Given the description of an element on the screen output the (x, y) to click on. 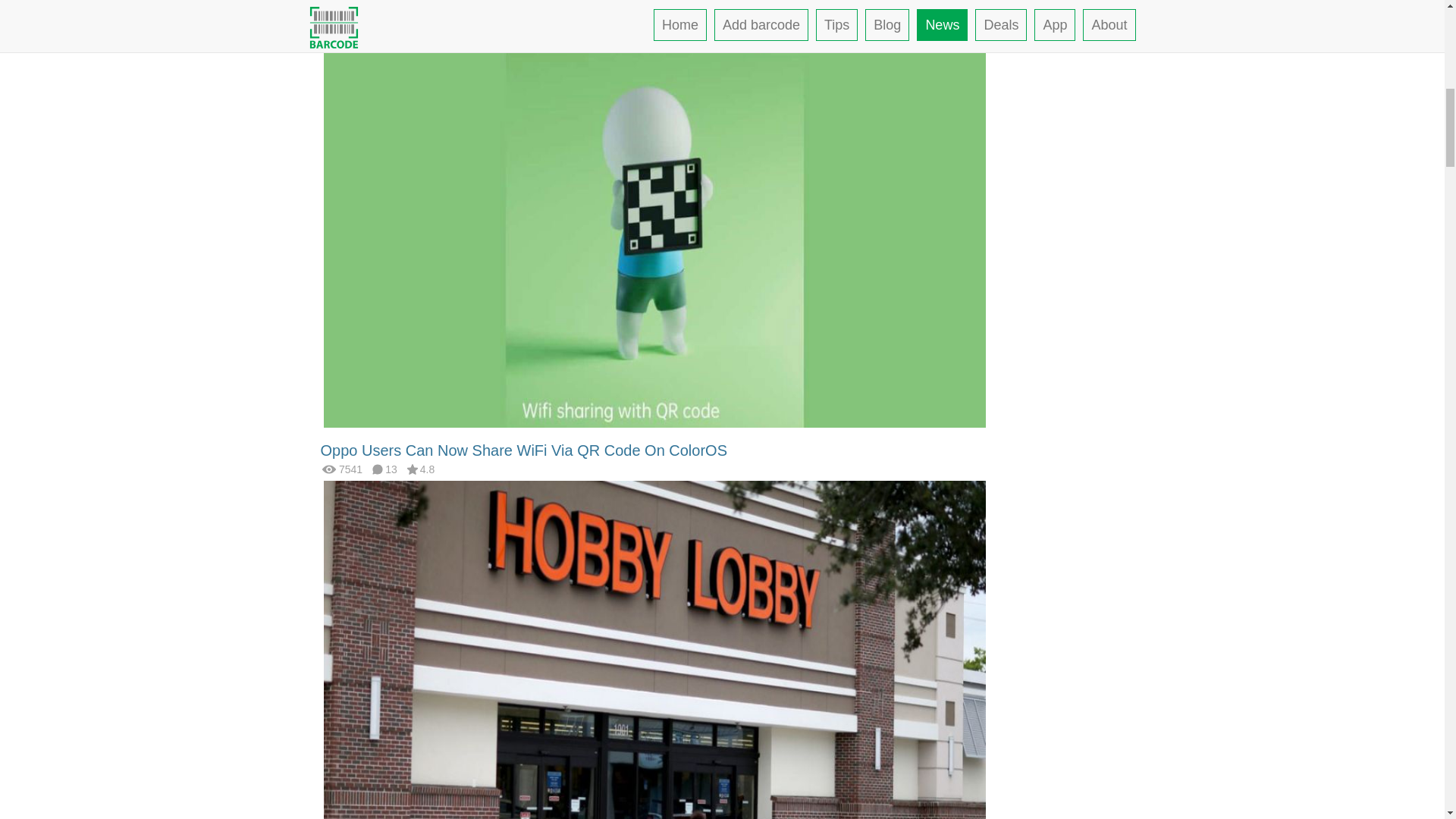
Oppo Users Can Now Share WiFi Via QR Code On ColorOS (523, 450)
Oppo Users Can Now Share WiFi Via QR Code On ColorOS (523, 450)
Oppo Users Can Now Share WiFi Via QR Code On ColorOS (654, 220)
